Given the description of an element on the screen output the (x, y) to click on. 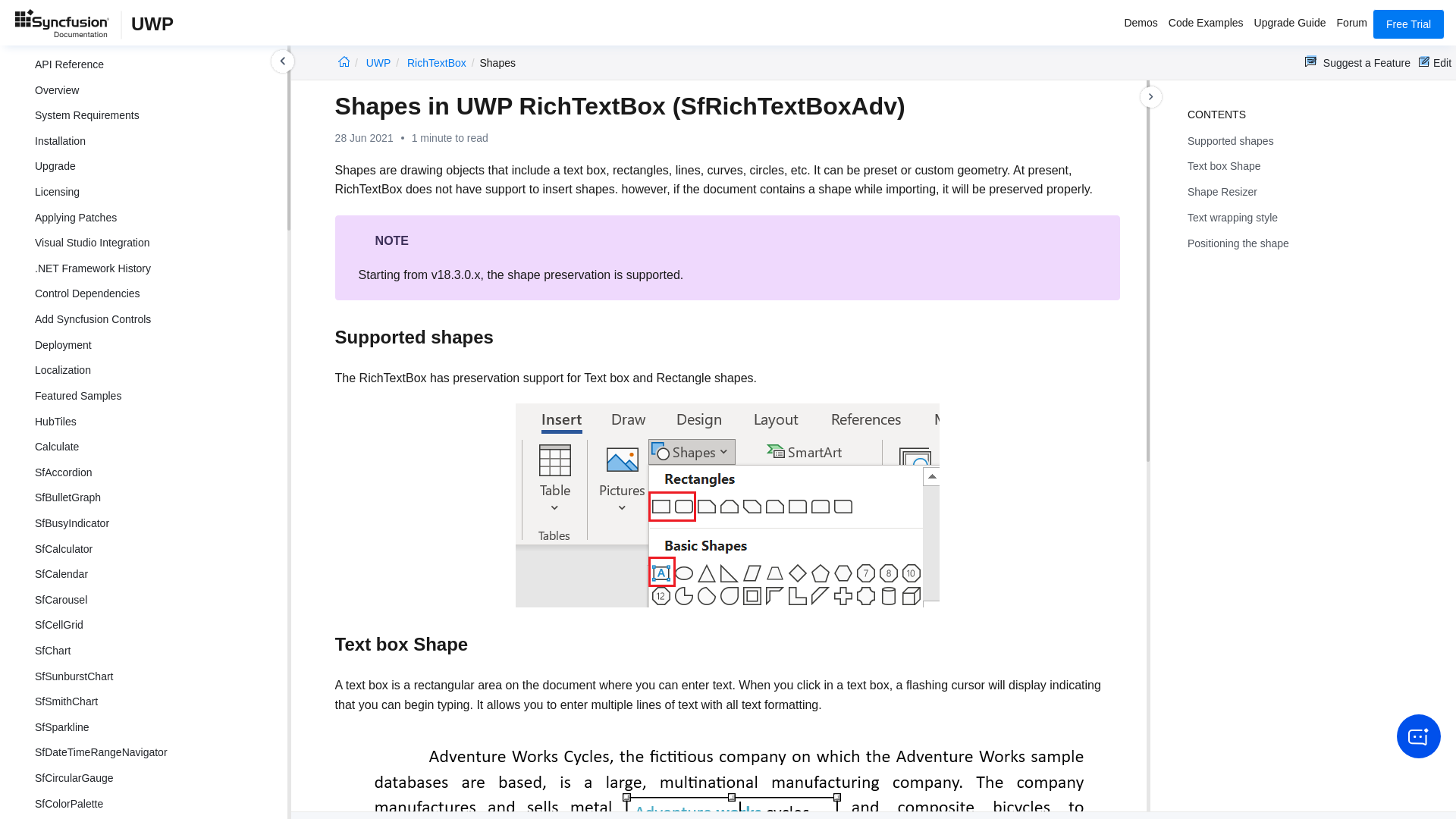
Suggest a Feature (1357, 62)
Edit (1434, 62)
RichTextBox (436, 62)
UWP (378, 62)
Suggest a Feature (1357, 62)
Upgrade Guide (1290, 24)
Forum (1352, 24)
Edit (1434, 62)
Overview (155, 89)
Free Trial (1408, 24)
